Given the description of an element on the screen output the (x, y) to click on. 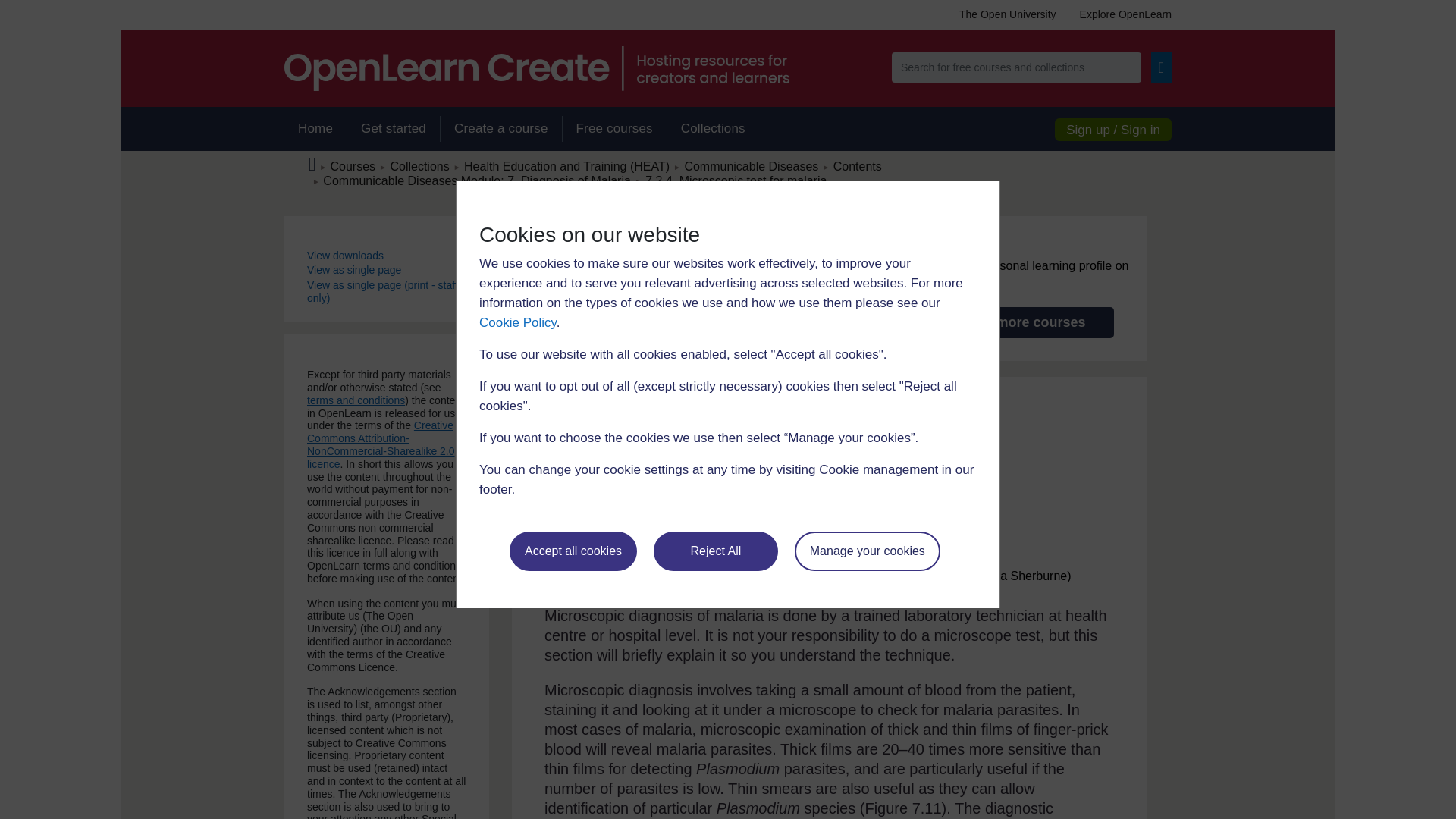
Free courses (614, 128)
Reject All (715, 550)
SC Web Editor (476, 180)
Search (1161, 67)
Home (314, 128)
Get started (392, 128)
Search (1161, 67)
Explore OpenLearn (1119, 14)
The Open University (1007, 14)
OpenLearn Create (536, 67)
Collections (712, 128)
Manage your cookies (867, 550)
The Open University (1007, 14)
Create a course (500, 128)
Accept all cookies (573, 550)
